Given the description of an element on the screen output the (x, y) to click on. 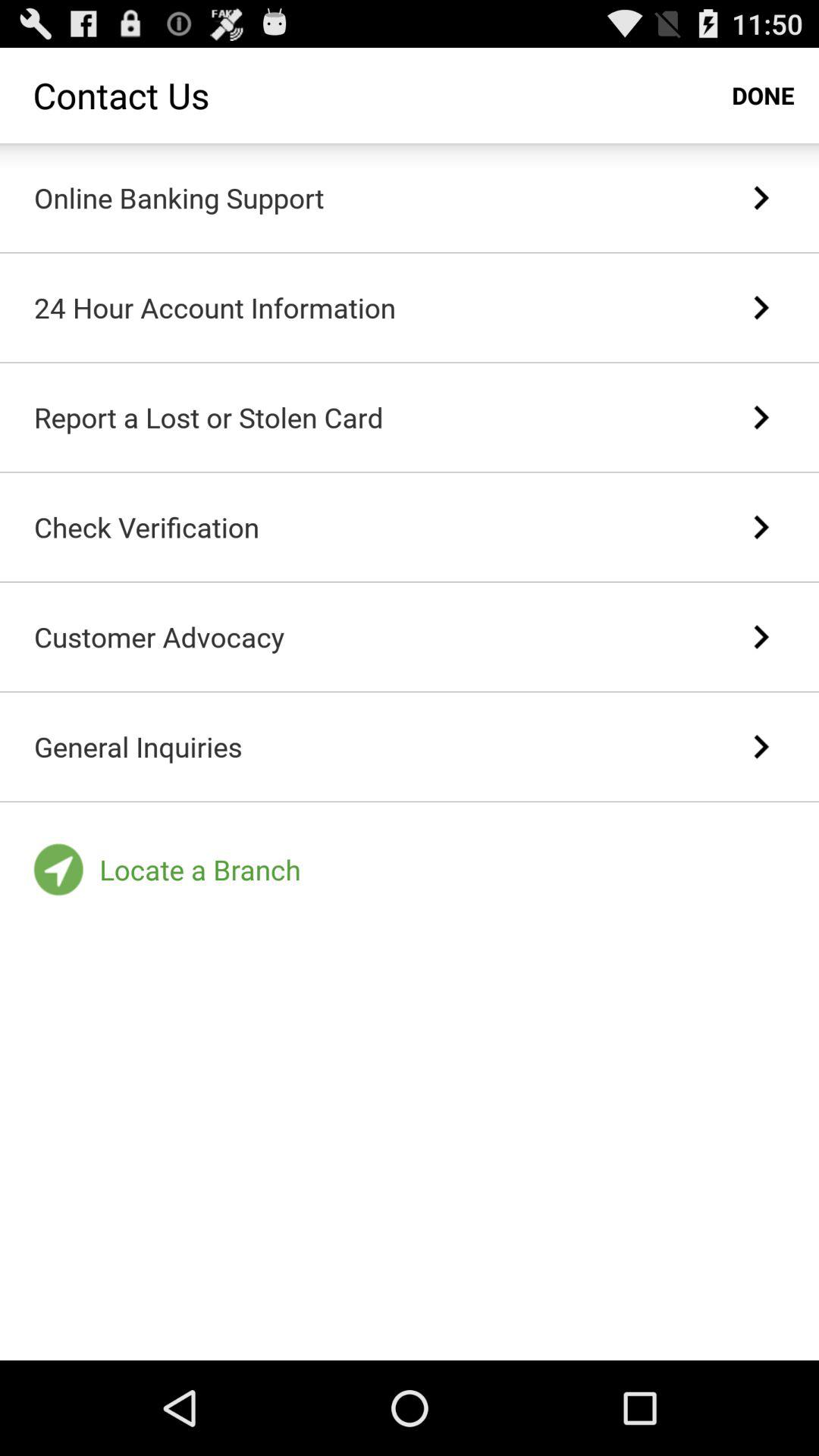
launch icon to the right of the check verification item (760, 526)
